Given the description of an element on the screen output the (x, y) to click on. 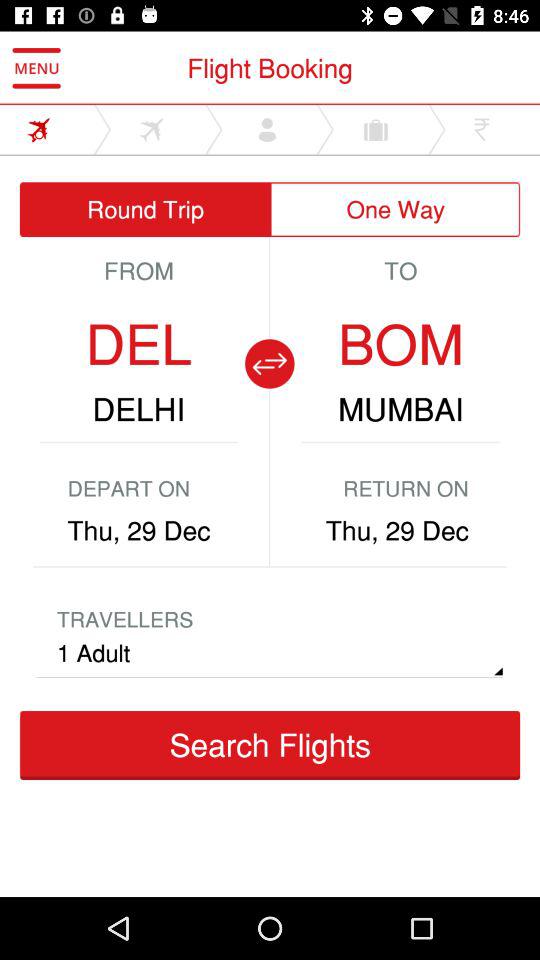
scroll until bom item (400, 344)
